Given the description of an element on the screen output the (x, y) to click on. 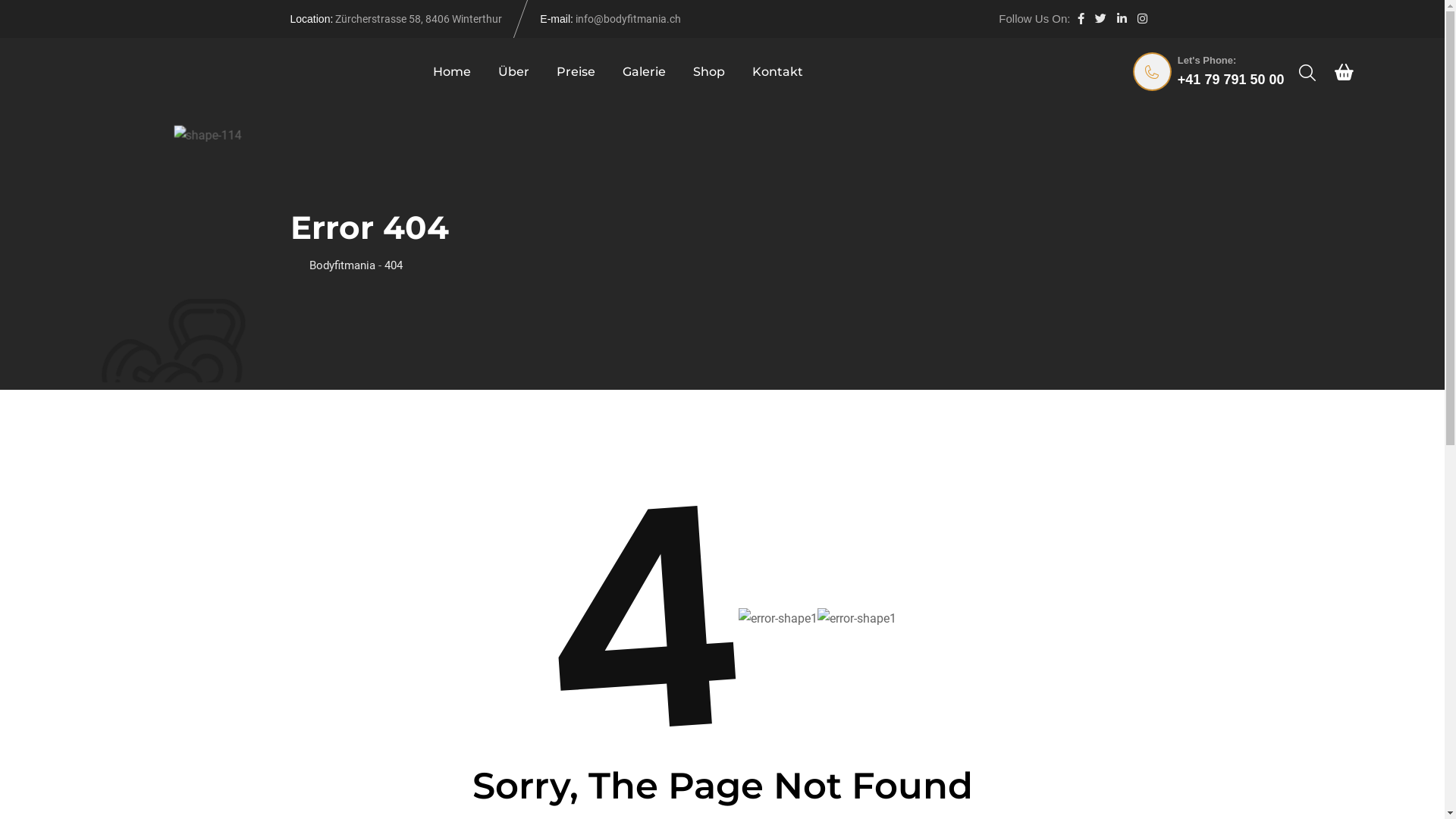
info@bodyfitmania.ch Element type: text (374, 653)
// Element type: text (1087, 771)
Bodyfitmania Element type: text (342, 265)
Lean Machines Element type: text (552, 586)
Let's Phone:
+41 79 791 50 00 Element type: text (1209, 72)
+41797915000 Element type: text (355, 621)
Search Element type: hover (1307, 72)
Datenschutz Element type: text (1045, 771)
Galerie Element type: text (643, 71)
Full-Body Strength Element type: text (560, 619)
Home Element type: text (451, 71)
Power Yoga Element type: text (542, 553)
Shop Element type: text (708, 71)
Fitness Classes Element type: text (552, 487)
Preise Element type: text (575, 71)
404 Element type: text (392, 265)
Impressum Element type: text (1124, 771)
View your shopping cart Element type: hover (1343, 71)
Kontakt Element type: text (777, 71)
info@bodyfitmania.ch Element type: text (627, 18)
Aerobics Classes Element type: text (556, 520)
